Given the description of an element on the screen output the (x, y) to click on. 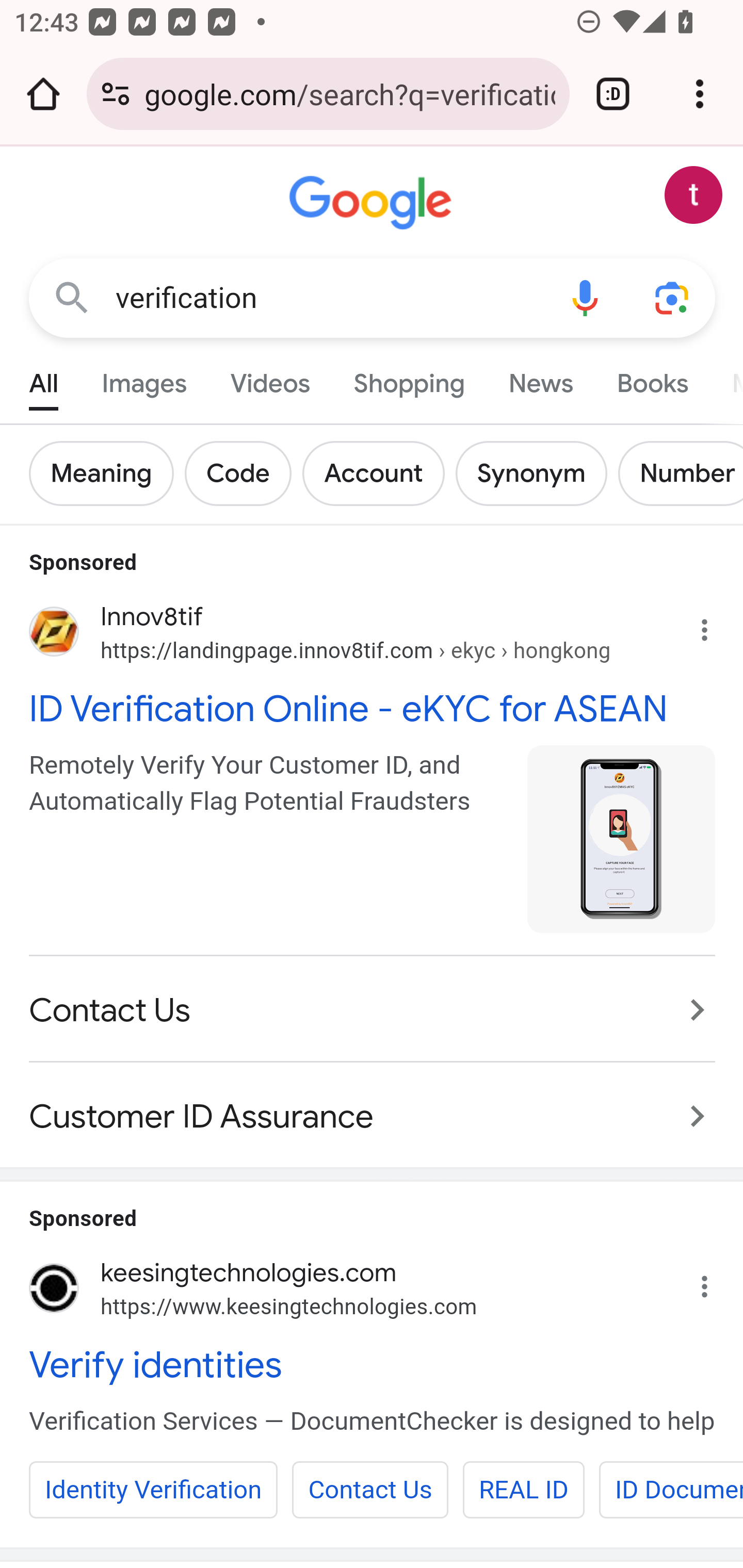
Open the home page (43, 93)
Connection is secure (115, 93)
Switch or close tabs (612, 93)
Customize and control Google Chrome (699, 93)
Google (372, 203)
Google Search (71, 296)
Search using your camera or photos (672, 296)
verification (328, 297)
Images (144, 378)
Videos (270, 378)
Shopping (408, 378)
News (540, 378)
Books (652, 378)
Add Meaning Meaning (106, 473)
Add Code Code (243, 473)
Add Account Account (378, 473)
Add Synonym Synonym (536, 473)
Add Number Number (680, 473)
Why this ad? (714, 625)
ID Verification Online - eKYC for ASEAN (372, 707)
Image from innov8tif.com (621, 837)
Contact Us (372, 1009)
Customer ID Assurance (372, 1105)
Why this ad? (714, 1280)
Verify identities (372, 1364)
Identity Verification (152, 1489)
Contact Us (369, 1489)
REAL ID (523, 1489)
ID Document Coverage (670, 1489)
